Given the description of an element on the screen output the (x, y) to click on. 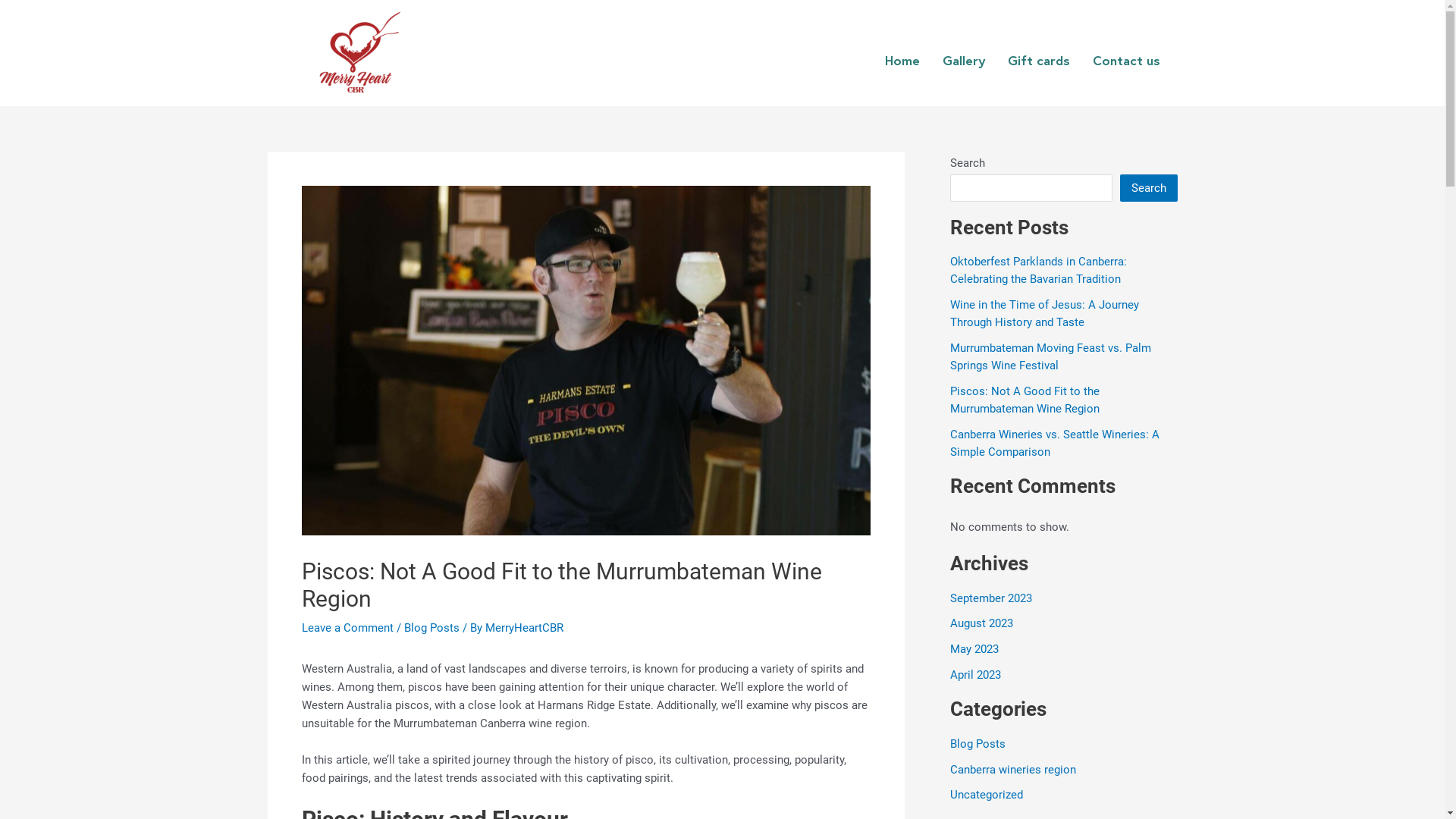
April 2023 Element type: text (974, 674)
Search Element type: text (1147, 187)
Gift cards Element type: text (1038, 60)
September 2023 Element type: text (990, 598)
Piscos: Not A Good Fit to the Murrumbateman Wine Region Element type: text (1023, 399)
May 2023 Element type: text (973, 648)
MerryHeartCBR Element type: text (524, 627)
Gallery Element type: text (963, 60)
Canberra wineries region Element type: text (1012, 769)
Blog Posts Element type: text (430, 627)
Leave a Comment Element type: text (347, 627)
Murrumbateman Moving Feast vs. Palm Springs Wine Festival Element type: text (1049, 356)
Home Element type: text (901, 60)
Blog Posts Element type: text (976, 743)
Uncategorized Element type: text (985, 794)
August 2023 Element type: text (980, 623)
Canberra Wineries vs. Seattle Wineries: A Simple Comparison Element type: text (1053, 442)
Contact us Element type: text (1126, 60)
